Given the description of an element on the screen output the (x, y) to click on. 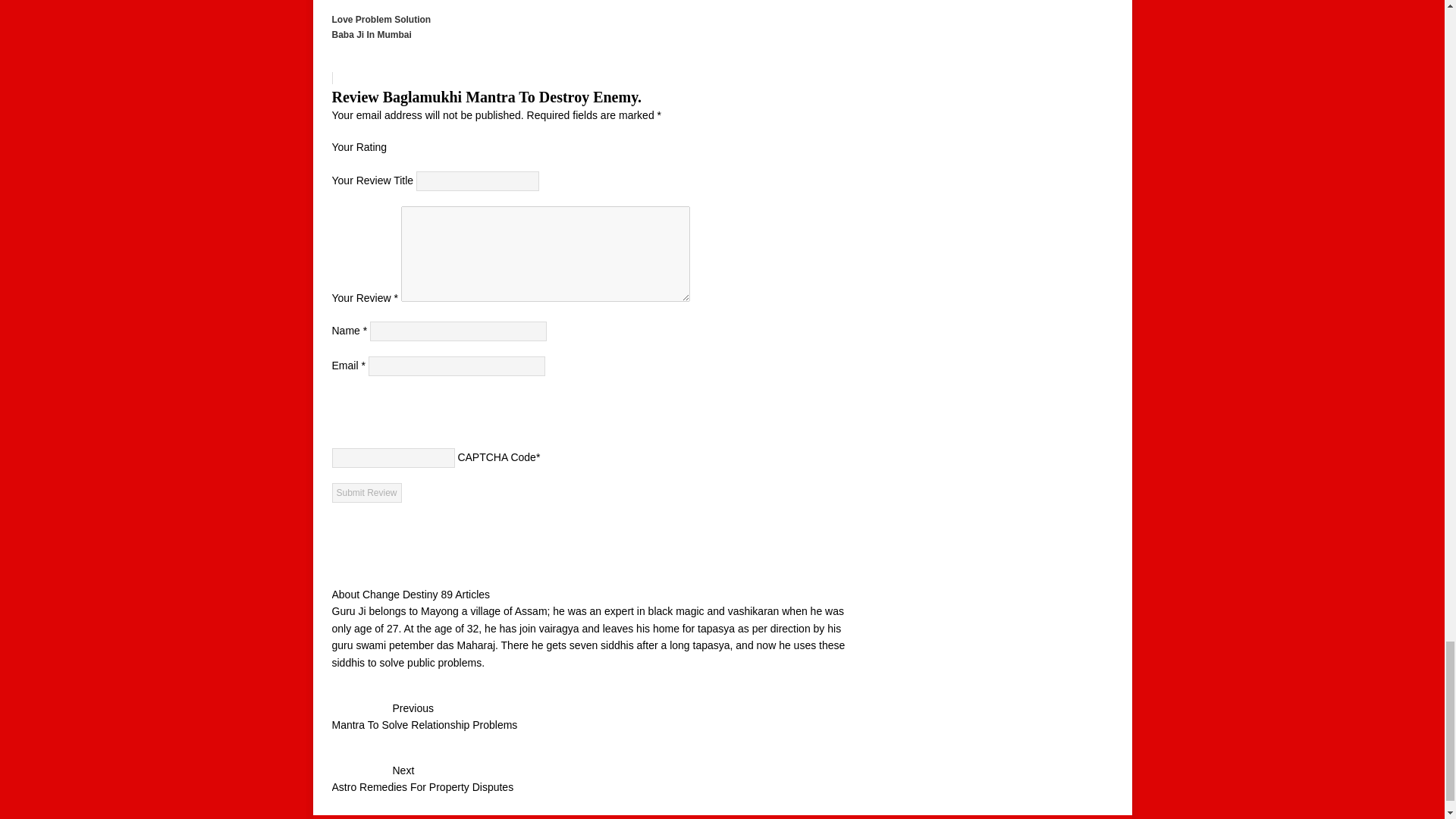
Submit Review (366, 492)
CAPTCHA (383, 415)
Love Problem Solution Baba Ji In Mumbai (588, 42)
Submit Review (366, 492)
Refresh (443, 407)
More articles written by Change Destiny' (588, 780)
89 Articles (465, 594)
